Given the description of an element on the screen output the (x, y) to click on. 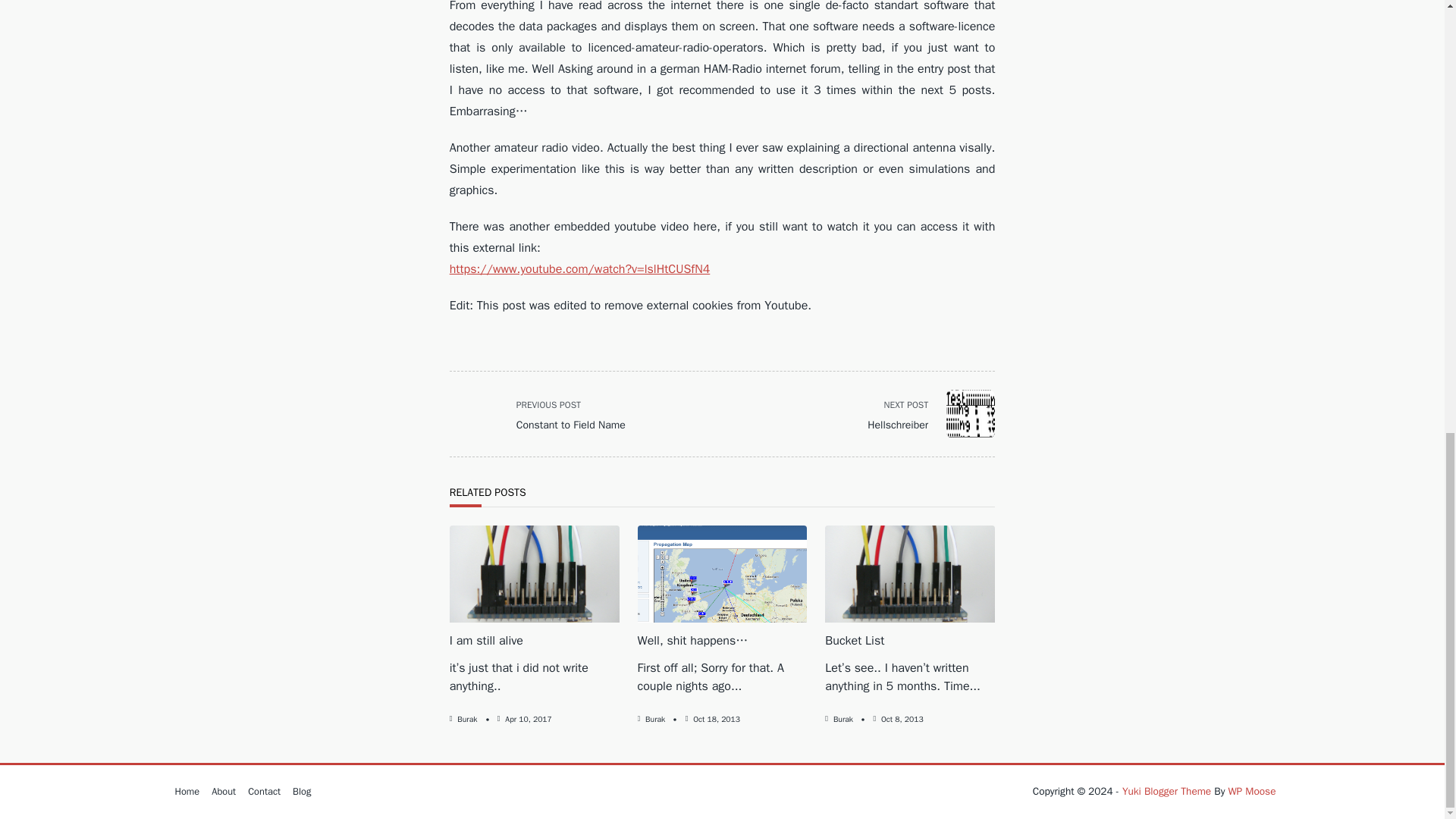
I am still alive (546, 413)
